Given the description of an element on the screen output the (x, y) to click on. 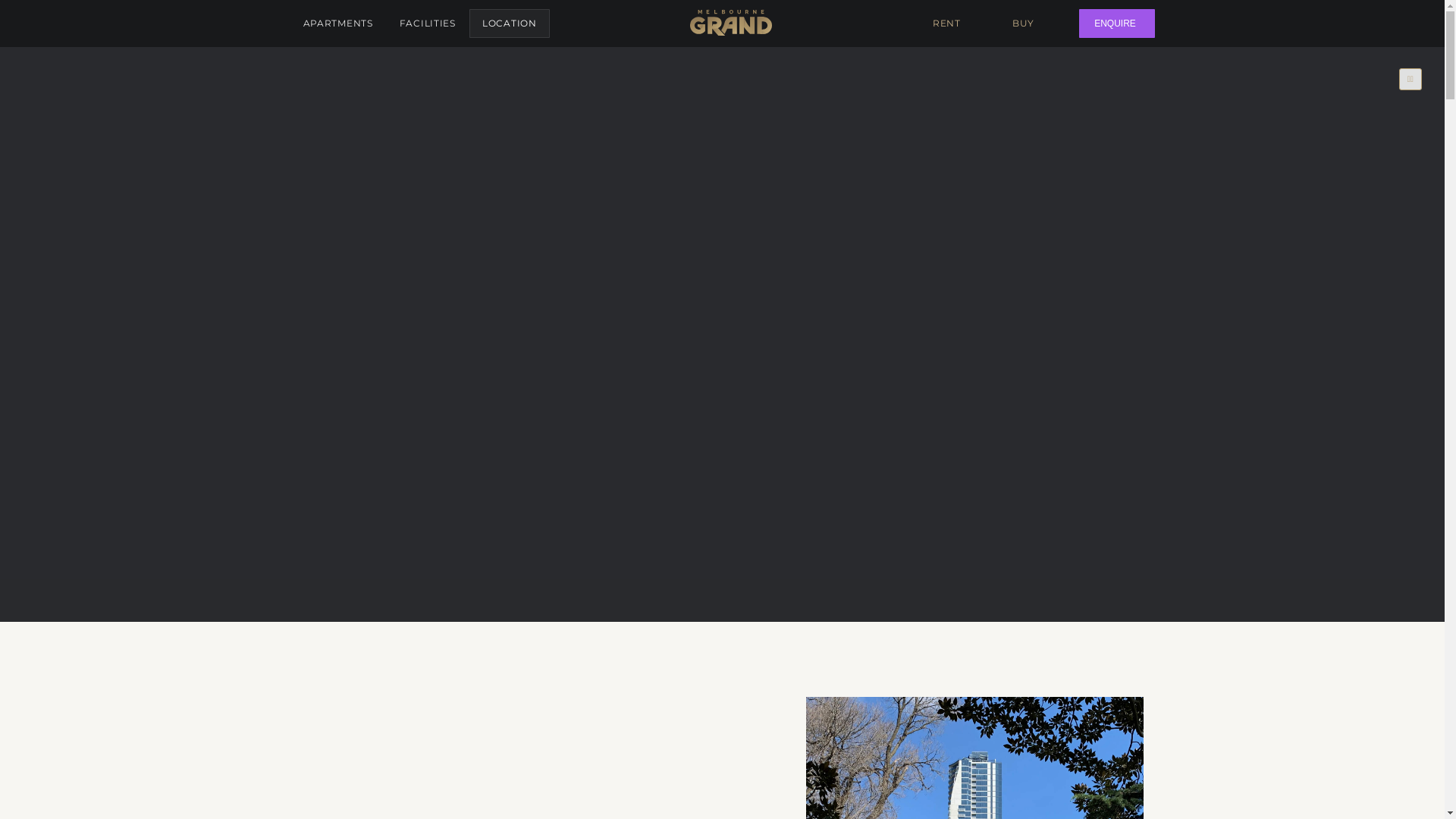
FACILITIES Element type: text (427, 23)
LOCATION Element type: text (509, 23)
APARTMENTS Element type: text (337, 23)
RENT Element type: text (949, 23)
ENQUIRE Element type: text (1116, 23)
BUY Element type: text (1026, 23)
